Given the description of an element on the screen output the (x, y) to click on. 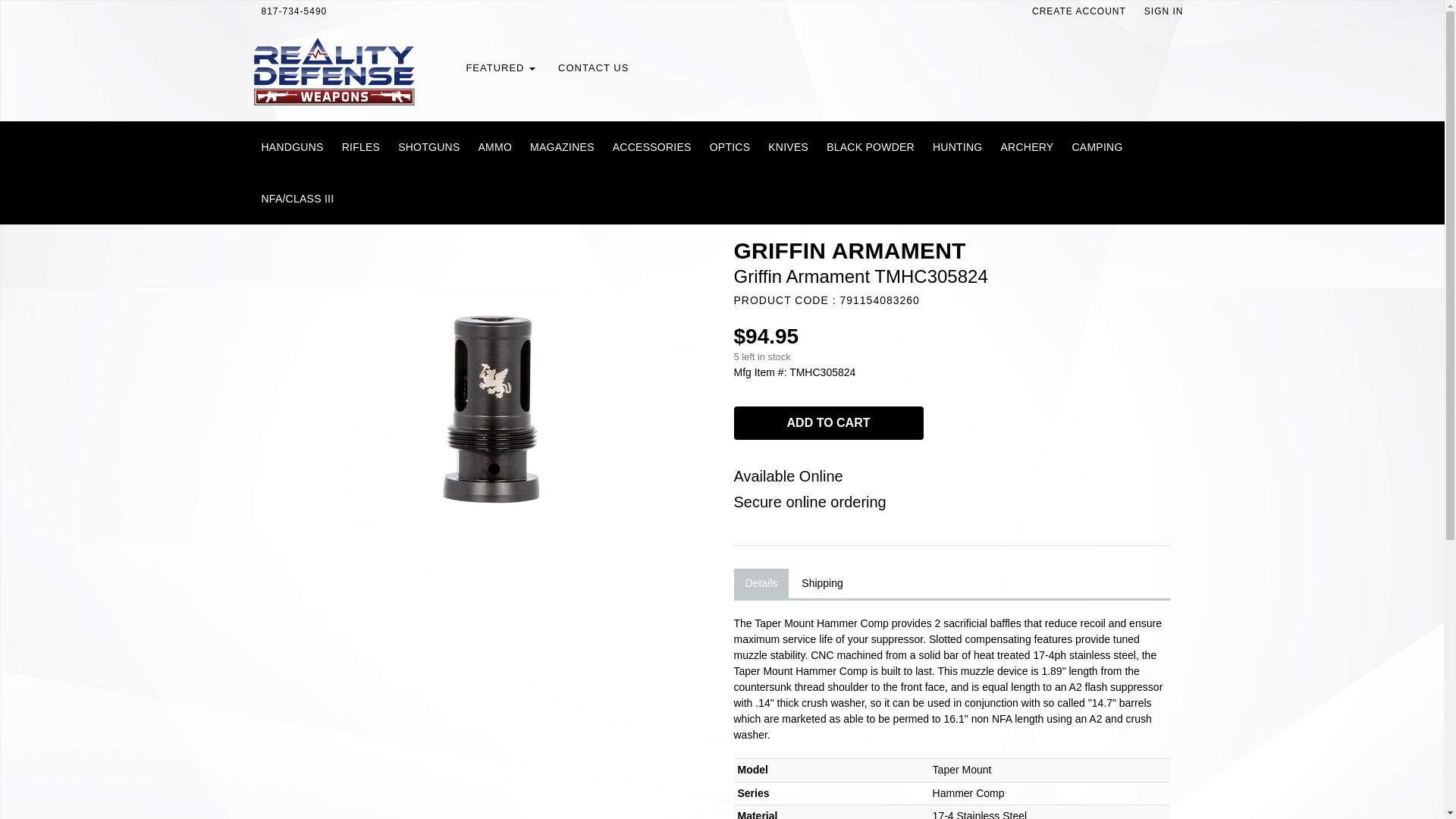
CREATE ACCOUNT (1079, 11)
CONTACT US (593, 67)
FEATURED (500, 67)
SIGN IN (1163, 11)
817-734-5490 (293, 11)
HANDGUNS (291, 146)
